Given the description of an element on the screen output the (x, y) to click on. 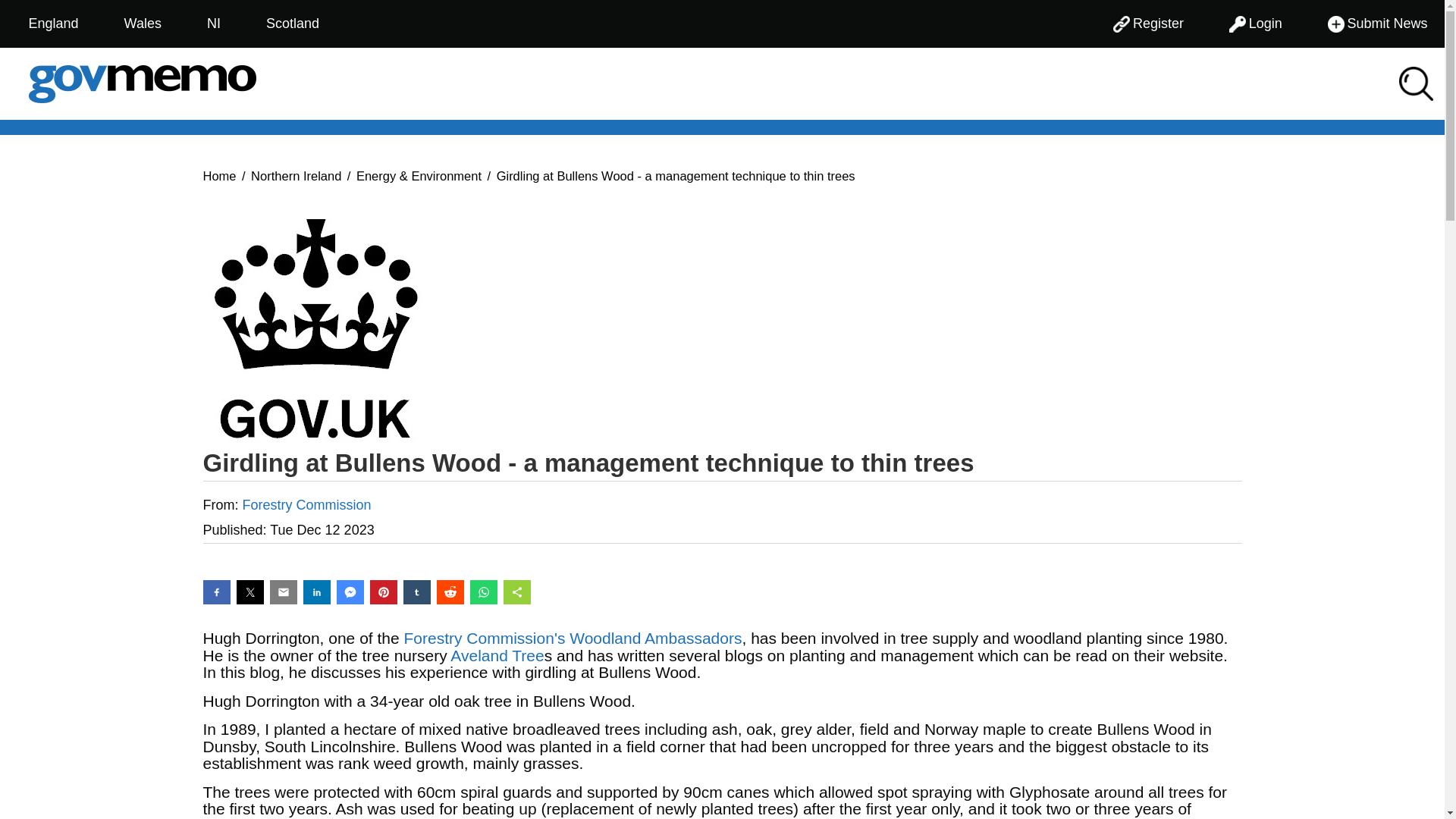
England (52, 23)
Register (1148, 23)
Northern Ireland (295, 174)
Wales (143, 23)
Scotland (292, 23)
Submit News (1377, 23)
Home (219, 174)
Aveland Tree (496, 654)
Forestry Commission (307, 504)
Forestry Commission's Woodland Ambassadors (573, 638)
